Given the description of an element on the screen output the (x, y) to click on. 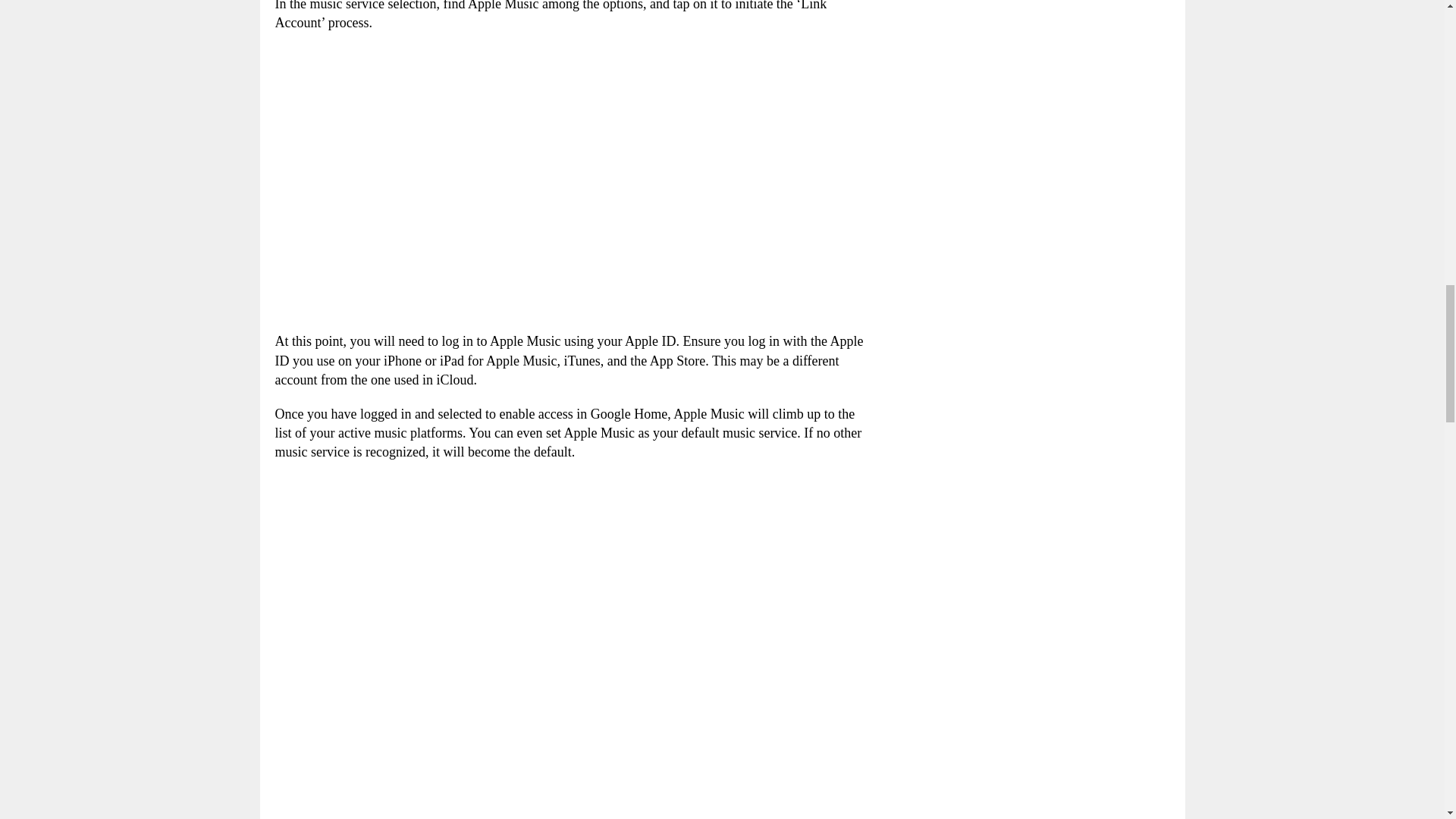
How to Play Apple Music On Google Home (493, 181)
